Given the description of an element on the screen output the (x, y) to click on. 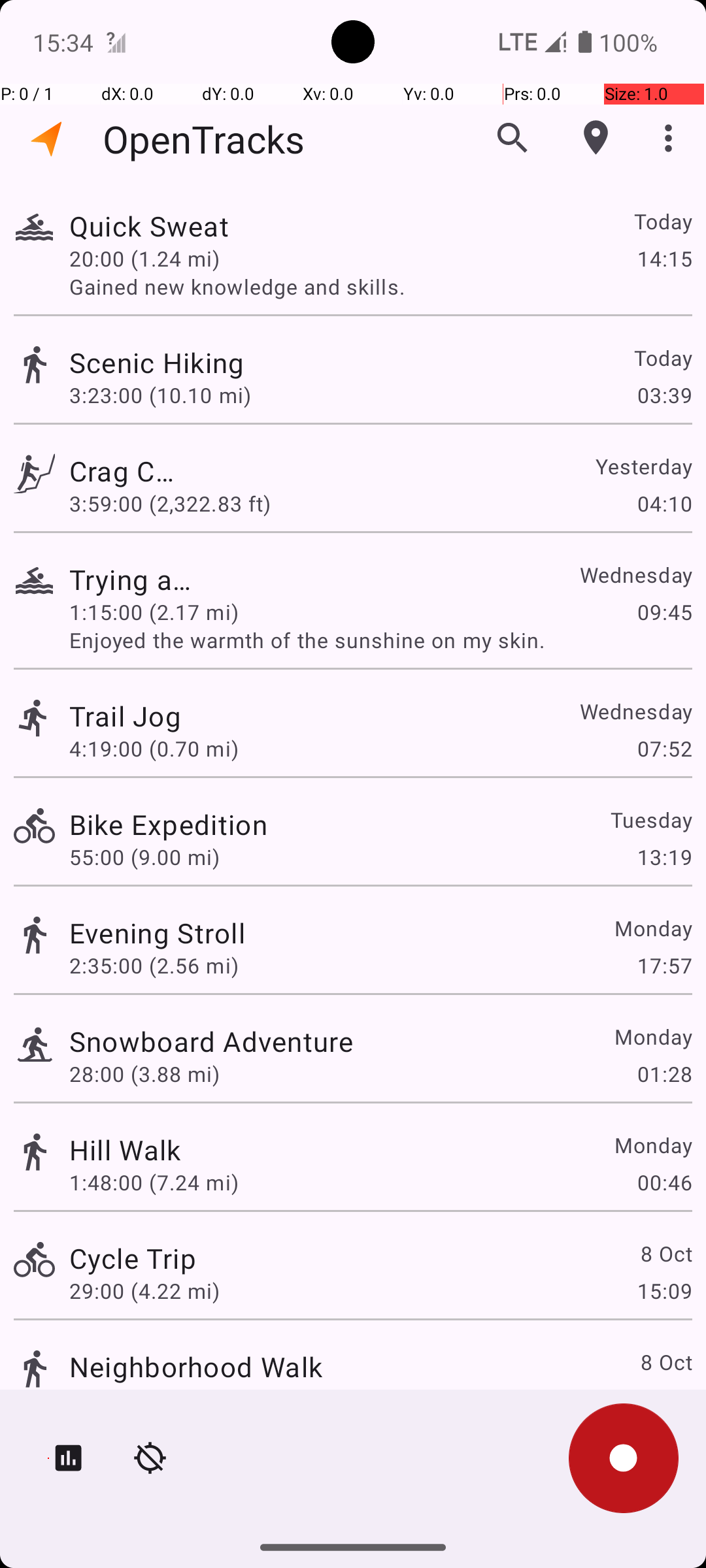
Quick Sweat Element type: android.widget.TextView (156, 225)
20:00 (1.24 mi) Element type: android.widget.TextView (153, 258)
14:15 Element type: android.widget.TextView (664, 258)
Gained new knowledge and skills. Element type: android.widget.TextView (380, 286)
Scenic Hiking Element type: android.widget.TextView (210, 361)
3:23:00 (10.10 mi) Element type: android.widget.TextView (159, 394)
03:39 Element type: android.widget.TextView (664, 394)
Crag Climbing Element type: android.widget.TextView (124, 470)
3:59:00 (2,322.83 ft) Element type: android.widget.TextView (169, 503)
04:10 Element type: android.widget.TextView (664, 503)
Trying and failing to keep up with John Element type: android.widget.TextView (132, 578)
1:15:00 (2.17 mi) Element type: android.widget.TextView (153, 611)
09:45 Element type: android.widget.TextView (664, 611)
Enjoyed the warmth of the sunshine on my skin. Element type: android.widget.TextView (380, 639)
Trail Jog Element type: android.widget.TextView (195, 715)
4:19:00 (0.70 mi) Element type: android.widget.TextView (153, 748)
07:52 Element type: android.widget.TextView (664, 748)
Bike Expedition Element type: android.widget.TextView (168, 823)
55:00 (9.00 mi) Element type: android.widget.TextView (144, 856)
13:19 Element type: android.widget.TextView (664, 856)
Evening Stroll Element type: android.widget.TextView (156, 932)
2:35:00 (2.56 mi) Element type: android.widget.TextView (153, 965)
17:57 Element type: android.widget.TextView (664, 965)
Snowboard Adventure Element type: android.widget.TextView (210, 1040)
28:00 (3.88 mi) Element type: android.widget.TextView (144, 1073)
01:28 Element type: android.widget.TextView (664, 1073)
Hill Walk Element type: android.widget.TextView (124, 1149)
1:48:00 (7.24 mi) Element type: android.widget.TextView (153, 1182)
00:46 Element type: android.widget.TextView (664, 1182)
Cycle Trip Element type: android.widget.TextView (132, 1257)
29:00 (4.22 mi) Element type: android.widget.TextView (144, 1290)
15:09 Element type: android.widget.TextView (664, 1290)
Neighborhood Walk Element type: android.widget.TextView (195, 1366)
4:44:00 (1.19 mi) Element type: android.widget.TextView (153, 1399)
02:01 Element type: android.widget.TextView (664, 1399)
